Given the description of an element on the screen output the (x, y) to click on. 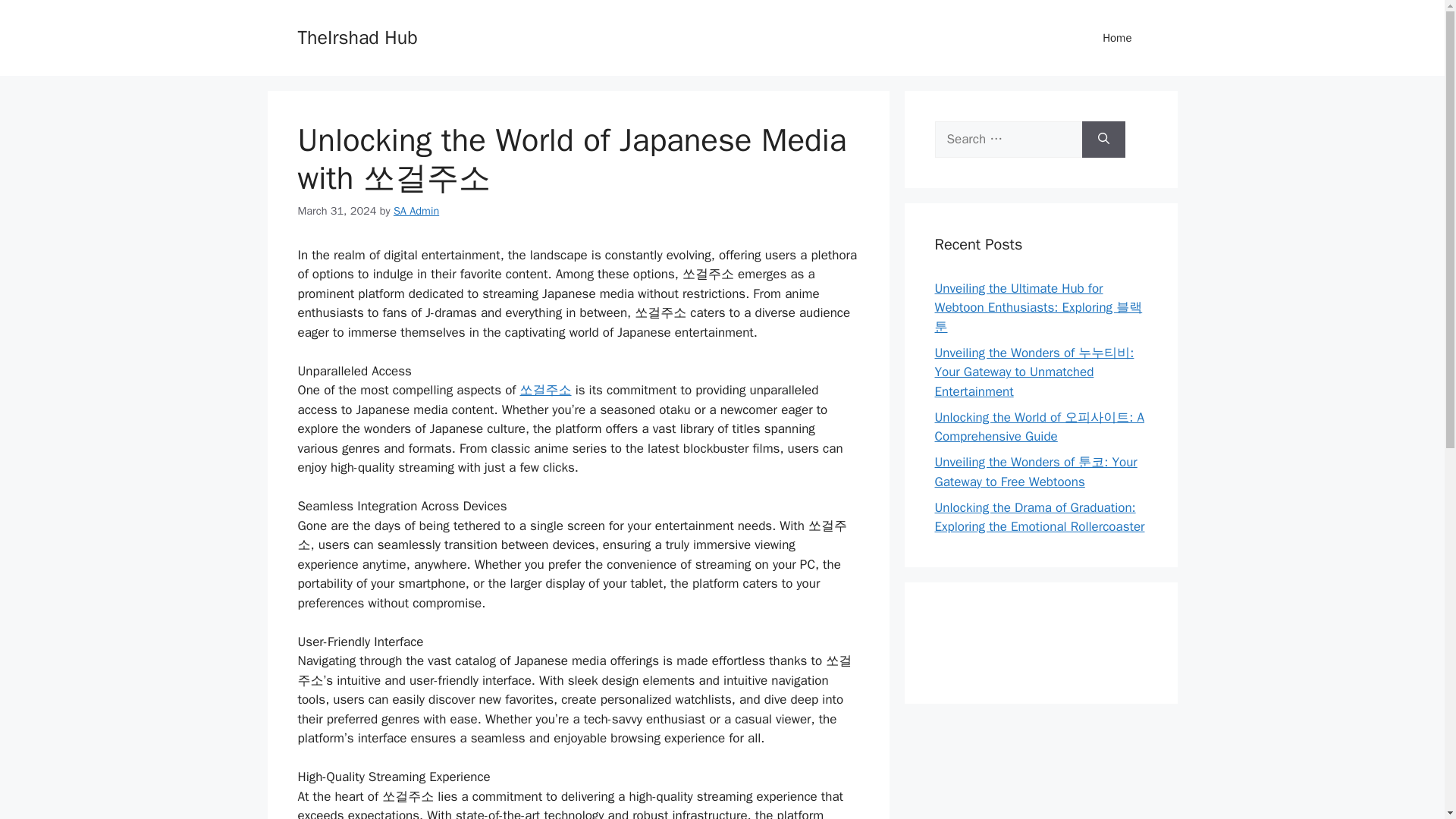
View all posts by SA Admin (416, 210)
TheIrshad Hub (356, 37)
Search for: (1007, 139)
SA Admin (416, 210)
Home (1117, 37)
